Given the description of an element on the screen output the (x, y) to click on. 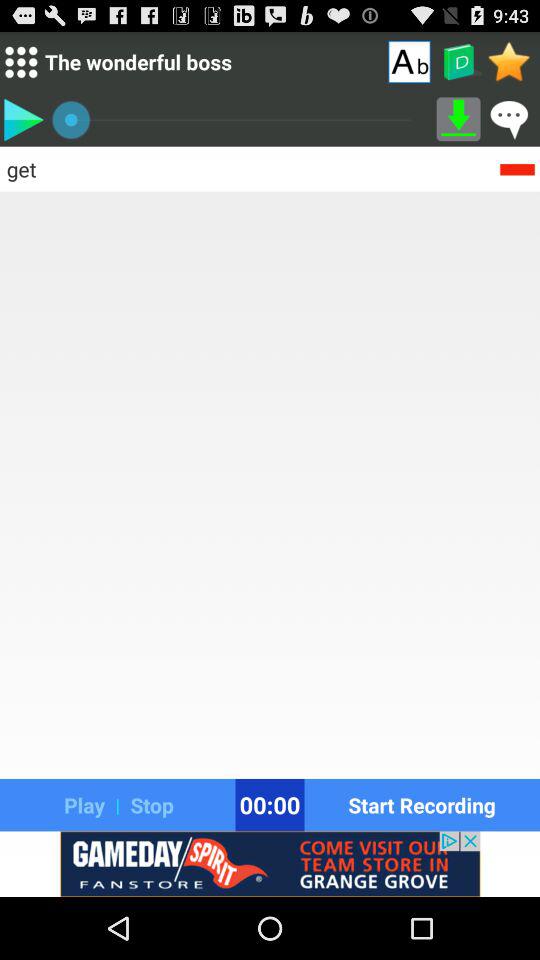
click to the download (458, 119)
